Given the description of an element on the screen output the (x, y) to click on. 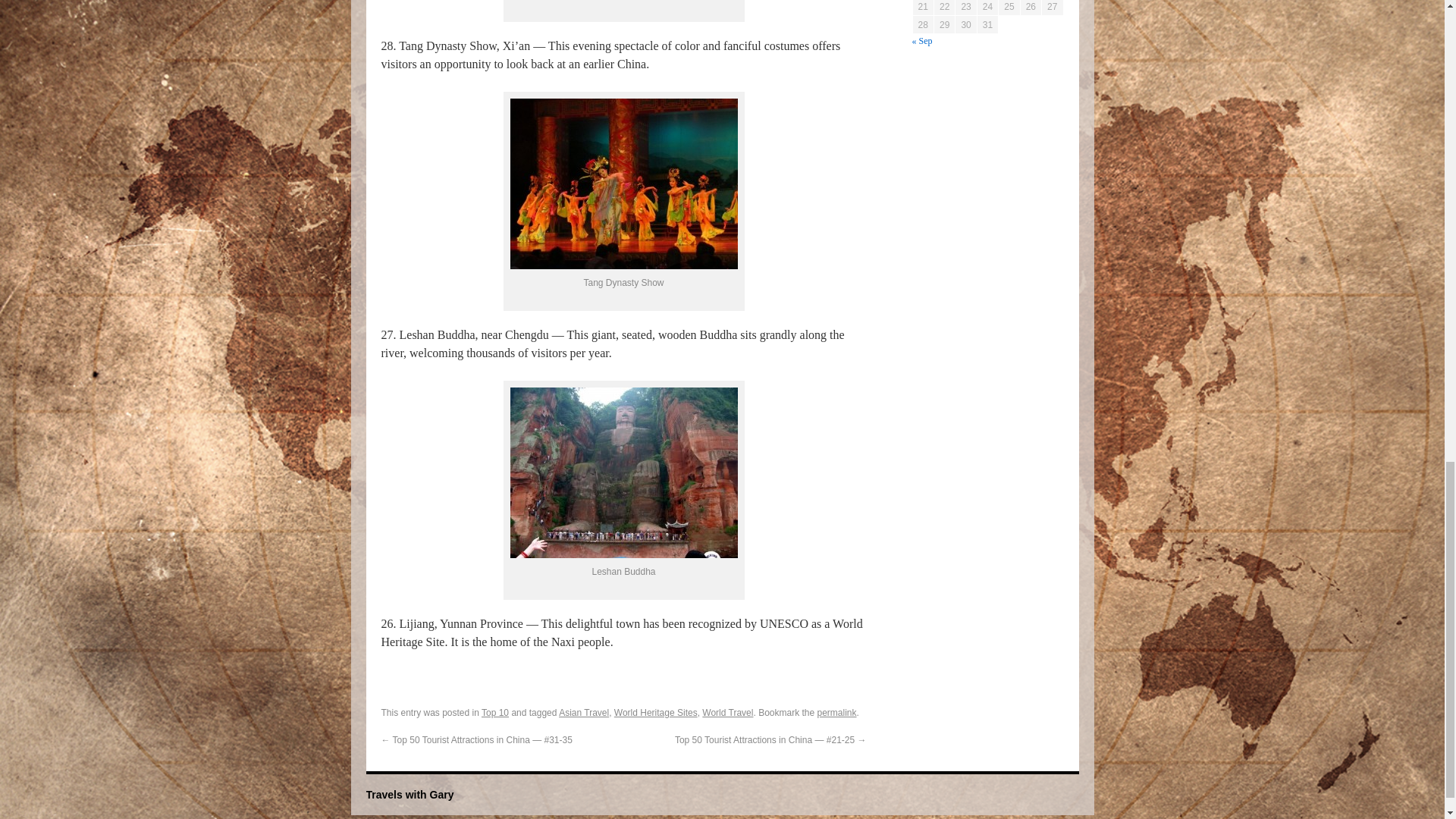
Asian Travel (583, 712)
Top 10 (494, 712)
Giant Buddha at Leshan (622, 472)
World Travel (726, 712)
permalink (836, 712)
Tang Dynasty Costumes.jpg (622, 183)
World Heritage Sites (655, 712)
